Given the description of an element on the screen output the (x, y) to click on. 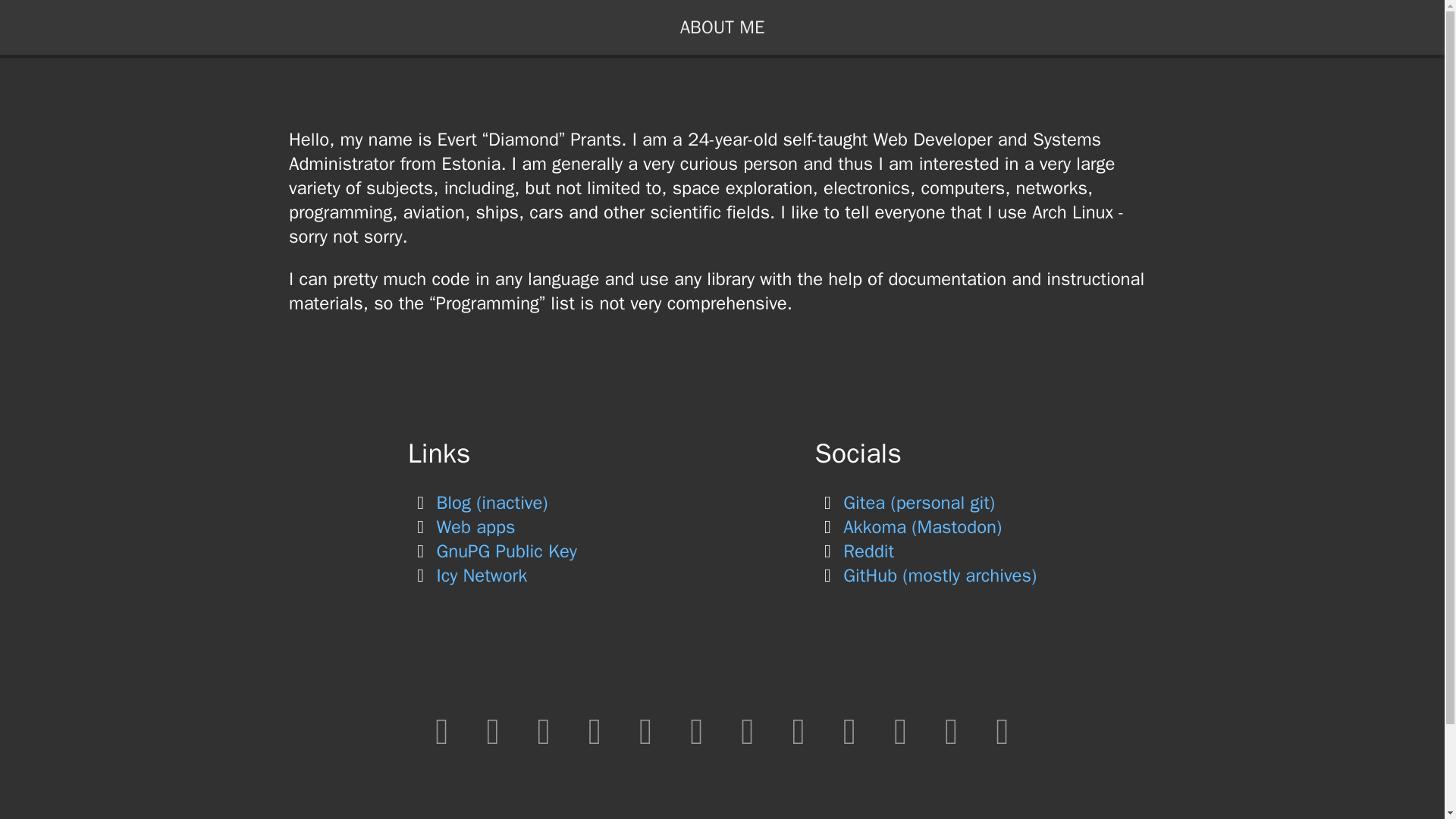
Icy Network (467, 575)
React (798, 731)
Nest.js (645, 731)
Reddit (855, 550)
JavaScript (492, 731)
Node.js (594, 731)
GnuPG Public Key (491, 550)
Flutter (900, 731)
Lua (1001, 731)
Web apps (461, 526)
